Given the description of an element on the screen output the (x, y) to click on. 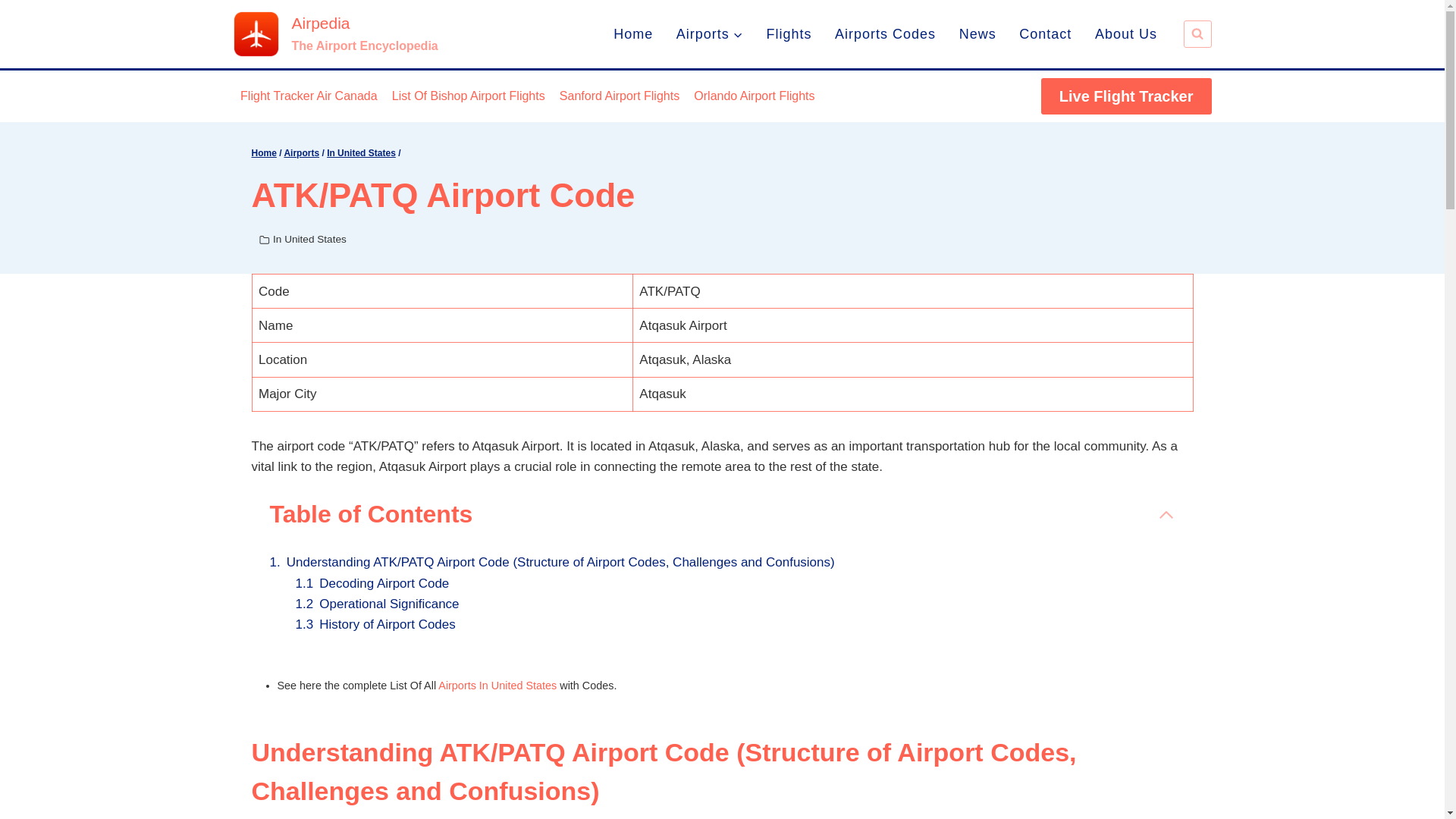
Contact (1045, 33)
Home (633, 33)
In United States (309, 238)
Decoding Airport Code (383, 583)
History of Airport Codes (386, 624)
Flight Tracker Air Canada (308, 96)
Live Flight Tracker (1126, 95)
Operational Significance (388, 603)
Airports In United States (497, 685)
News (977, 33)
